Given the description of an element on the screen output the (x, y) to click on. 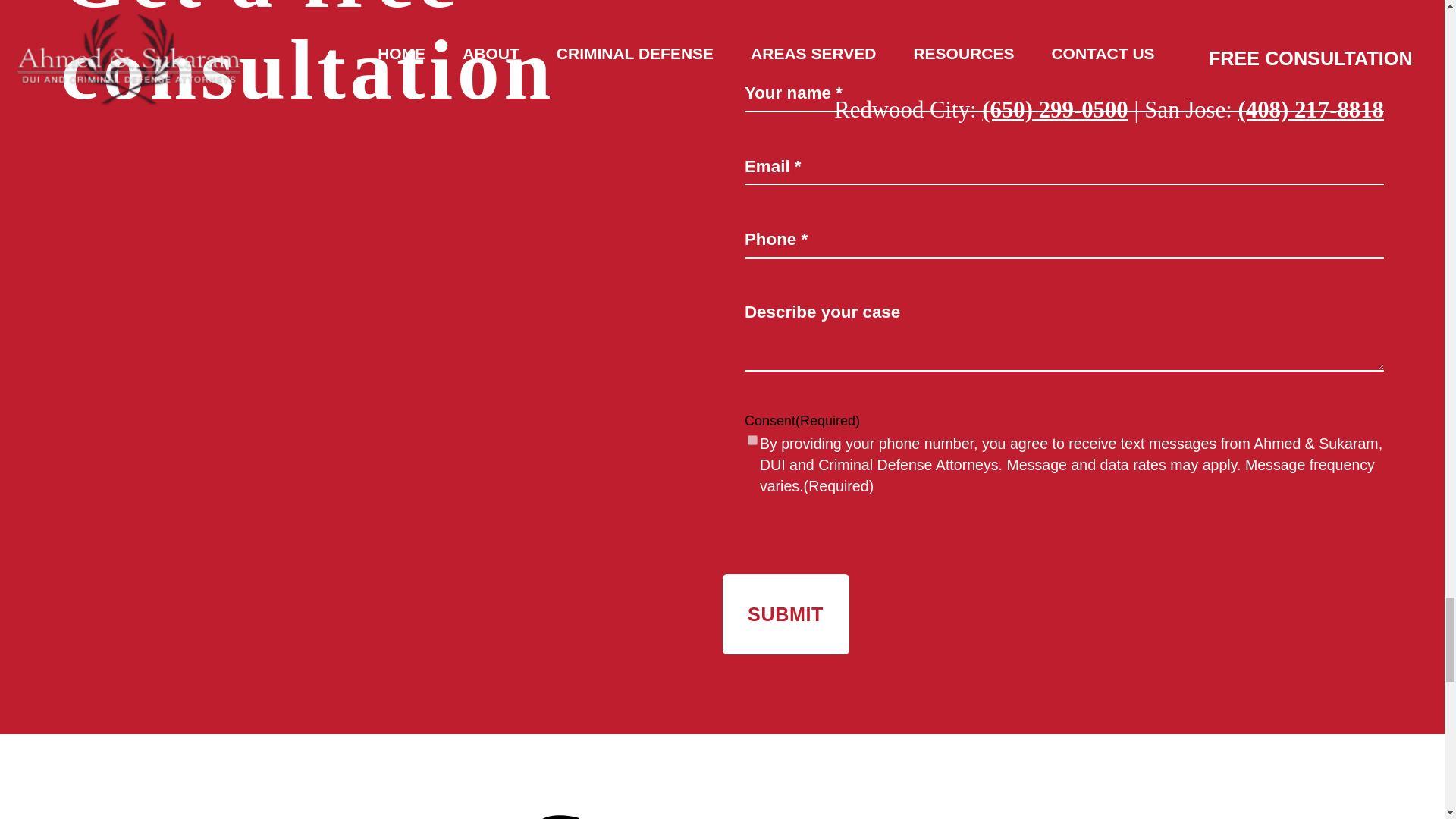
Submit (785, 614)
1 (752, 439)
